Given the description of an element on the screen output the (x, y) to click on. 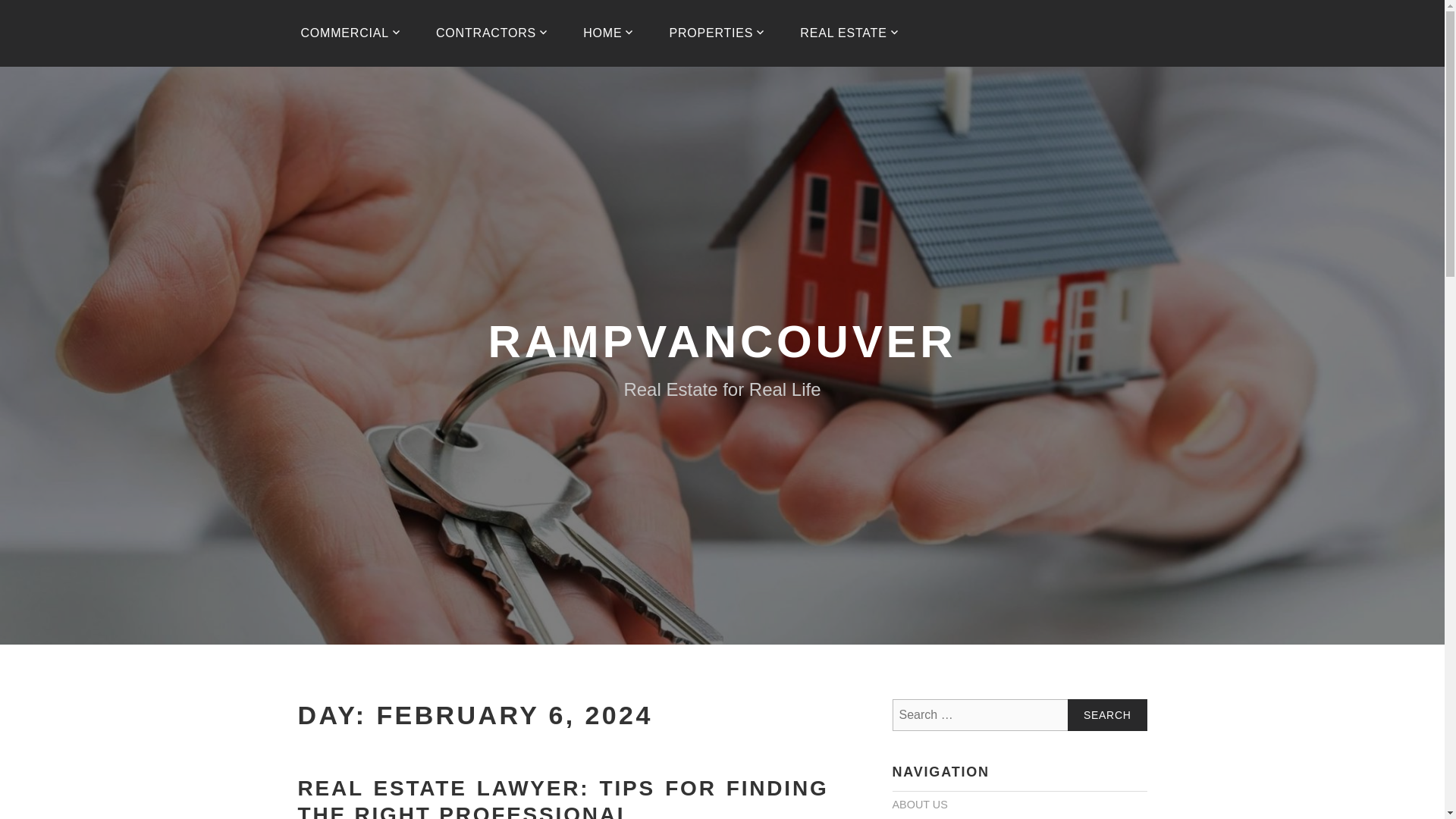
Search (1107, 715)
ABOUT US (919, 805)
REAL ESTATE LAWYER: TIPS FOR FINDING THE RIGHT PROFESSIONAL (562, 797)
Search (1107, 715)
CONTRACTORS (492, 33)
COMMERCIAL (350, 33)
RAMPVANCOUVER (721, 341)
HOME (608, 33)
Search (1107, 715)
PROPERTIES (716, 33)
REAL ESTATE (849, 33)
